Given the description of an element on the screen output the (x, y) to click on. 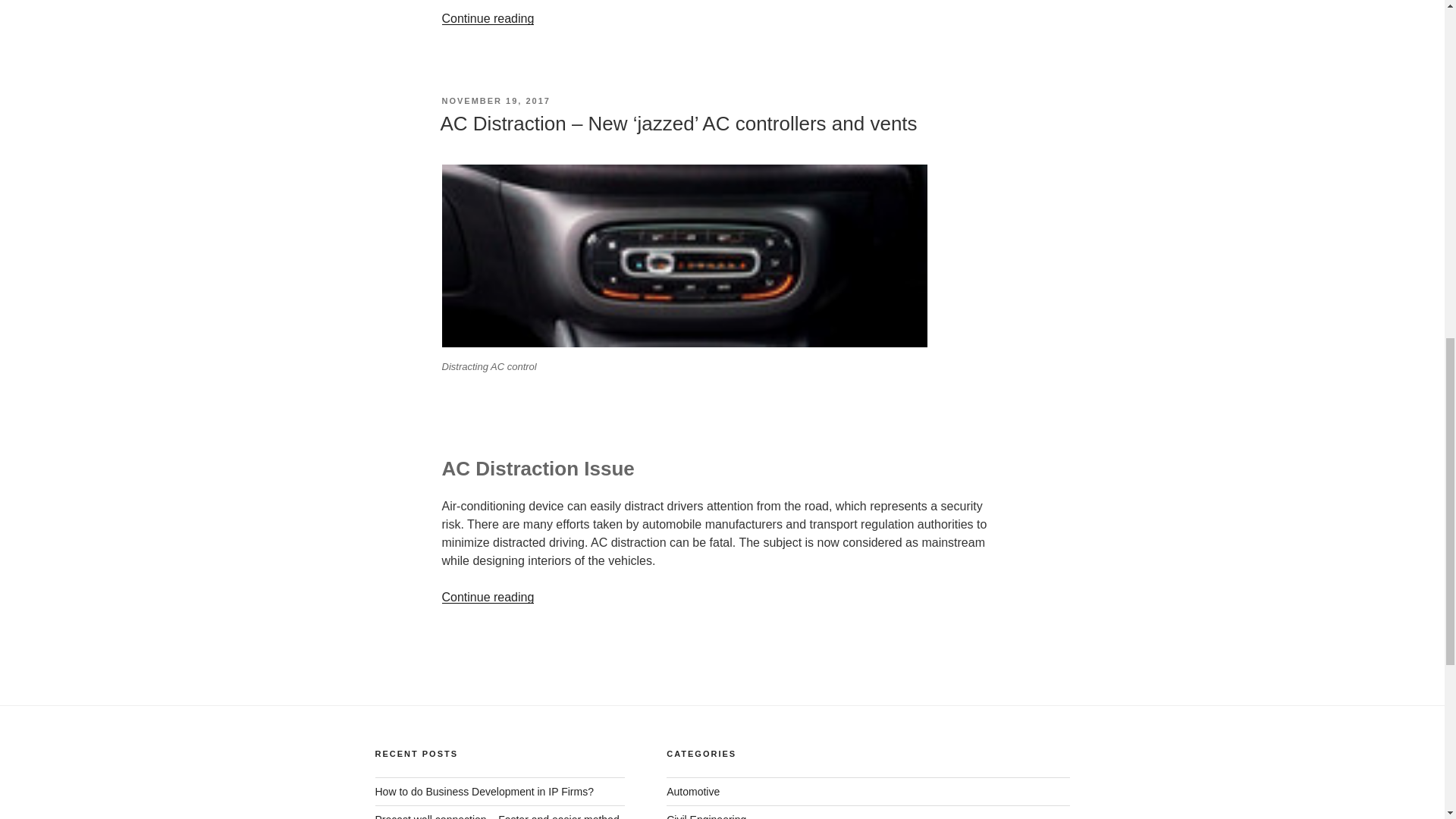
How to do Business Development in IP Firms? (483, 791)
Civil Engineering (705, 816)
NOVEMBER 19, 2017 (495, 100)
Automotive (692, 791)
